Given the description of an element on the screen output the (x, y) to click on. 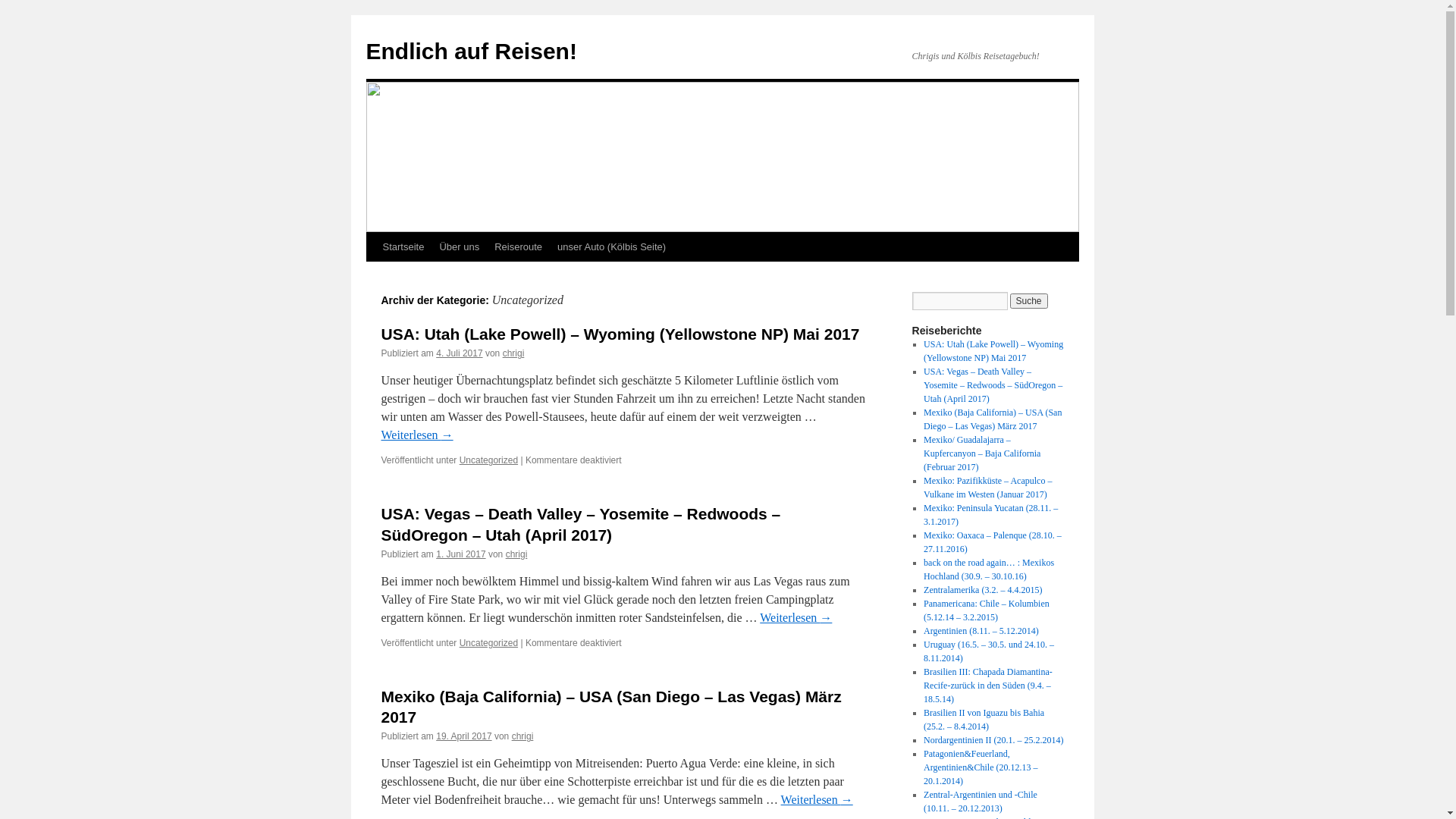
Suche Element type: text (1029, 300)
Reiseroute Element type: text (517, 246)
1. Juni 2017 Element type: text (460, 554)
Startseite Element type: text (402, 246)
chrigi Element type: text (522, 736)
Endlich auf Reisen! Element type: text (470, 50)
19. April 2017 Element type: text (463, 736)
chrigi Element type: text (513, 353)
4. Juli 2017 Element type: text (459, 353)
chrigi Element type: text (516, 554)
Uncategorized Element type: text (488, 642)
Zum Inhalt springen Element type: text (372, 275)
Uncategorized Element type: text (488, 460)
